Given the description of an element on the screen output the (x, y) to click on. 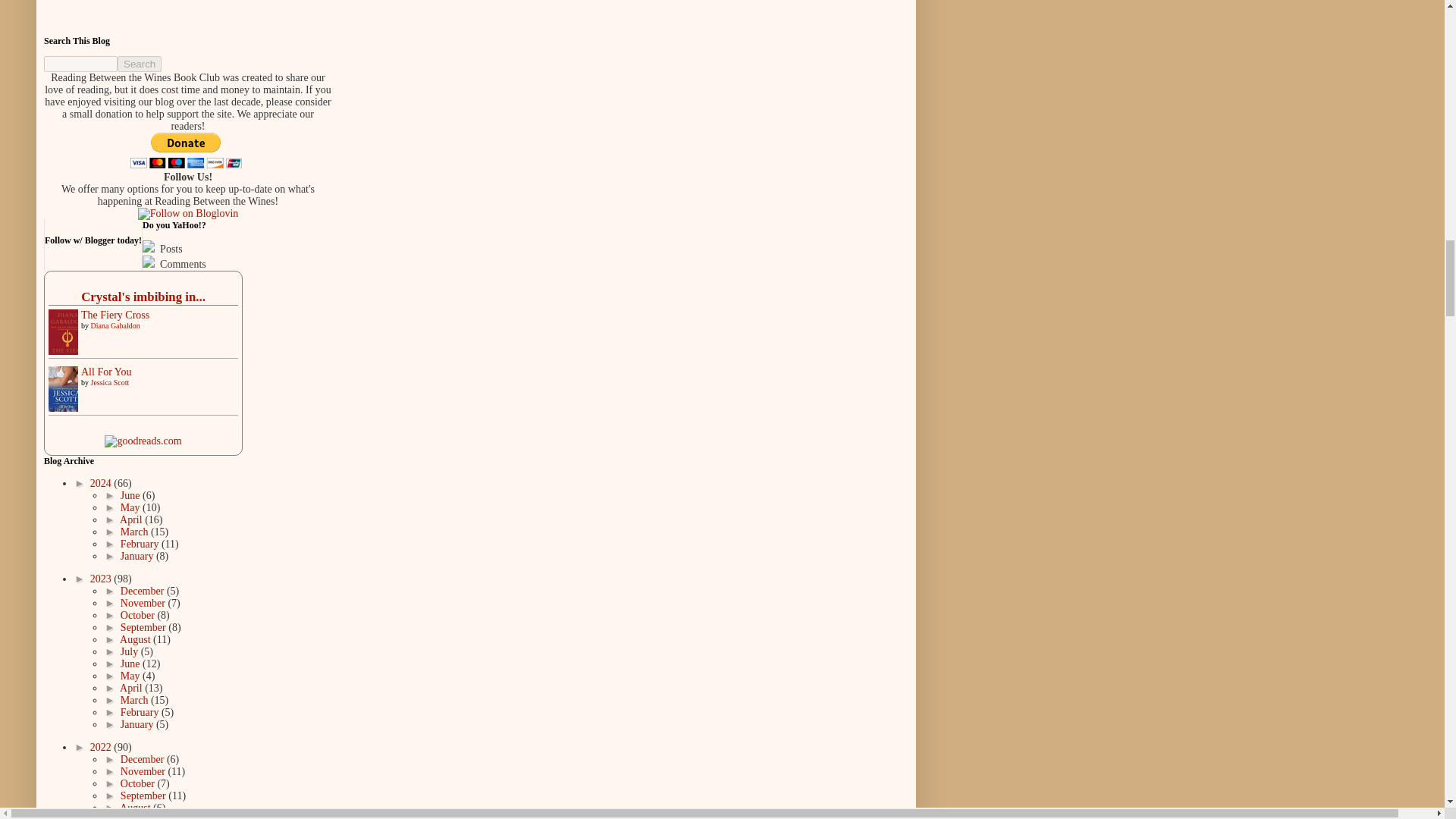
Search (139, 64)
Search (139, 64)
Search (139, 64)
